Given the description of an element on the screen output the (x, y) to click on. 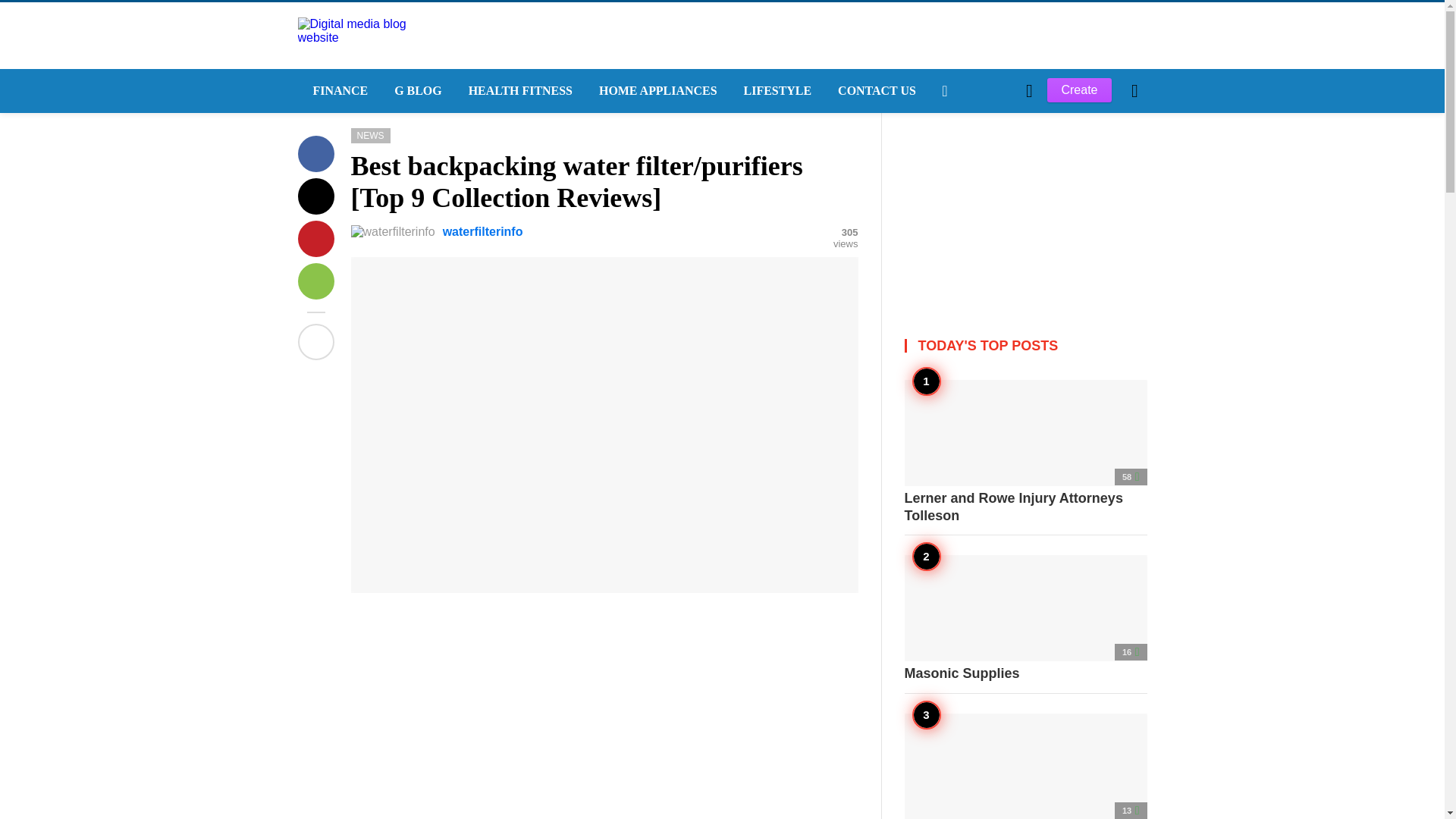
Latest Trends in Bedroom Furniture Design (1025, 765)
Masonic Supplies (1025, 618)
Lerner and Rowe Injury Attorneys Tolleson (1025, 452)
CONTACT US (874, 90)
sign up (964, 347)
HEALTH FITNESS (517, 90)
G BLOG (415, 90)
LIFESTYLE (776, 90)
HOME APPLIANCES (656, 90)
FINANCE (337, 90)
